Given the description of an element on the screen output the (x, y) to click on. 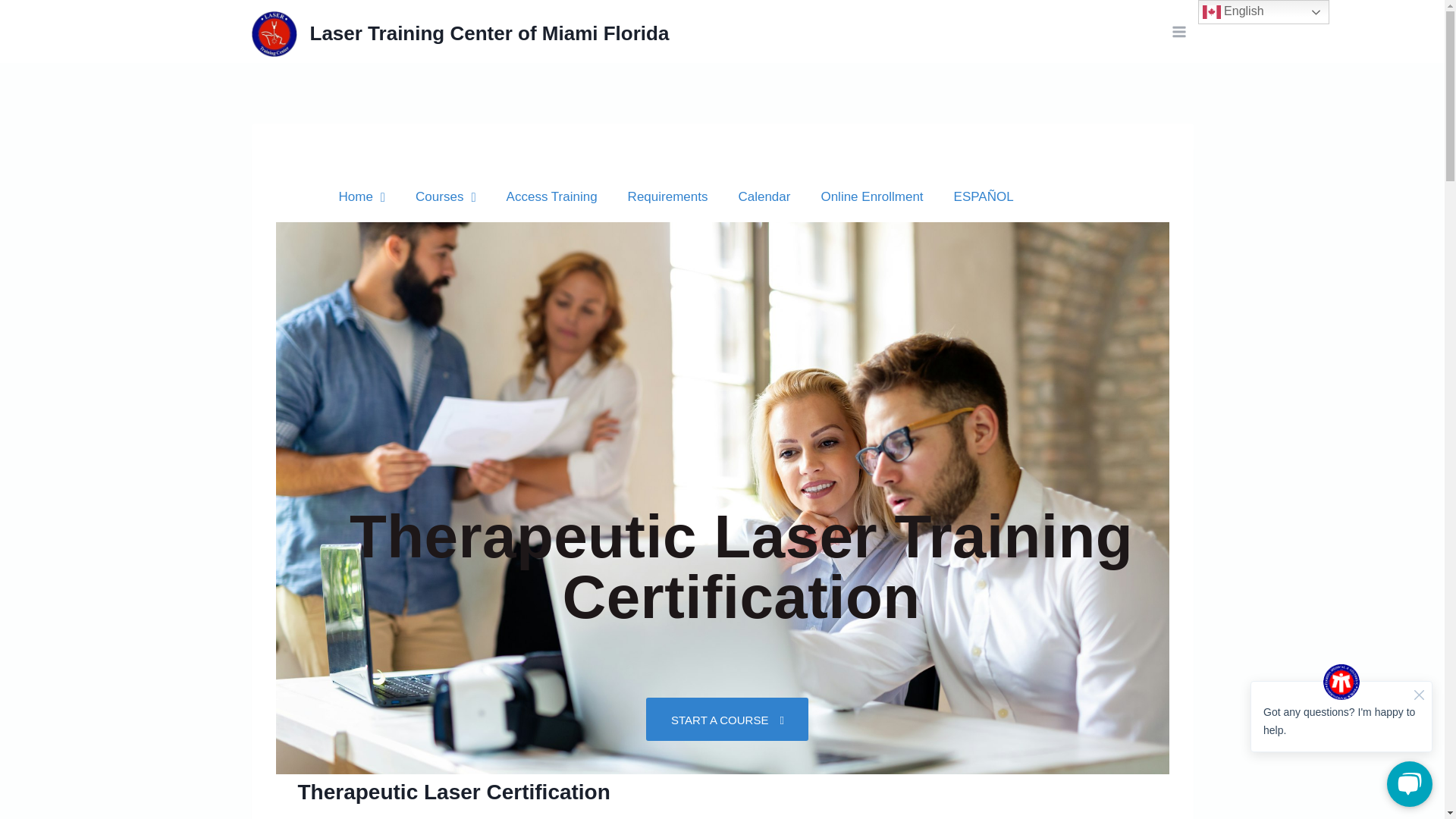
Home (361, 196)
Laser Training Center of Miami Florida (460, 33)
Courses (446, 196)
